Given the description of an element on the screen output the (x, y) to click on. 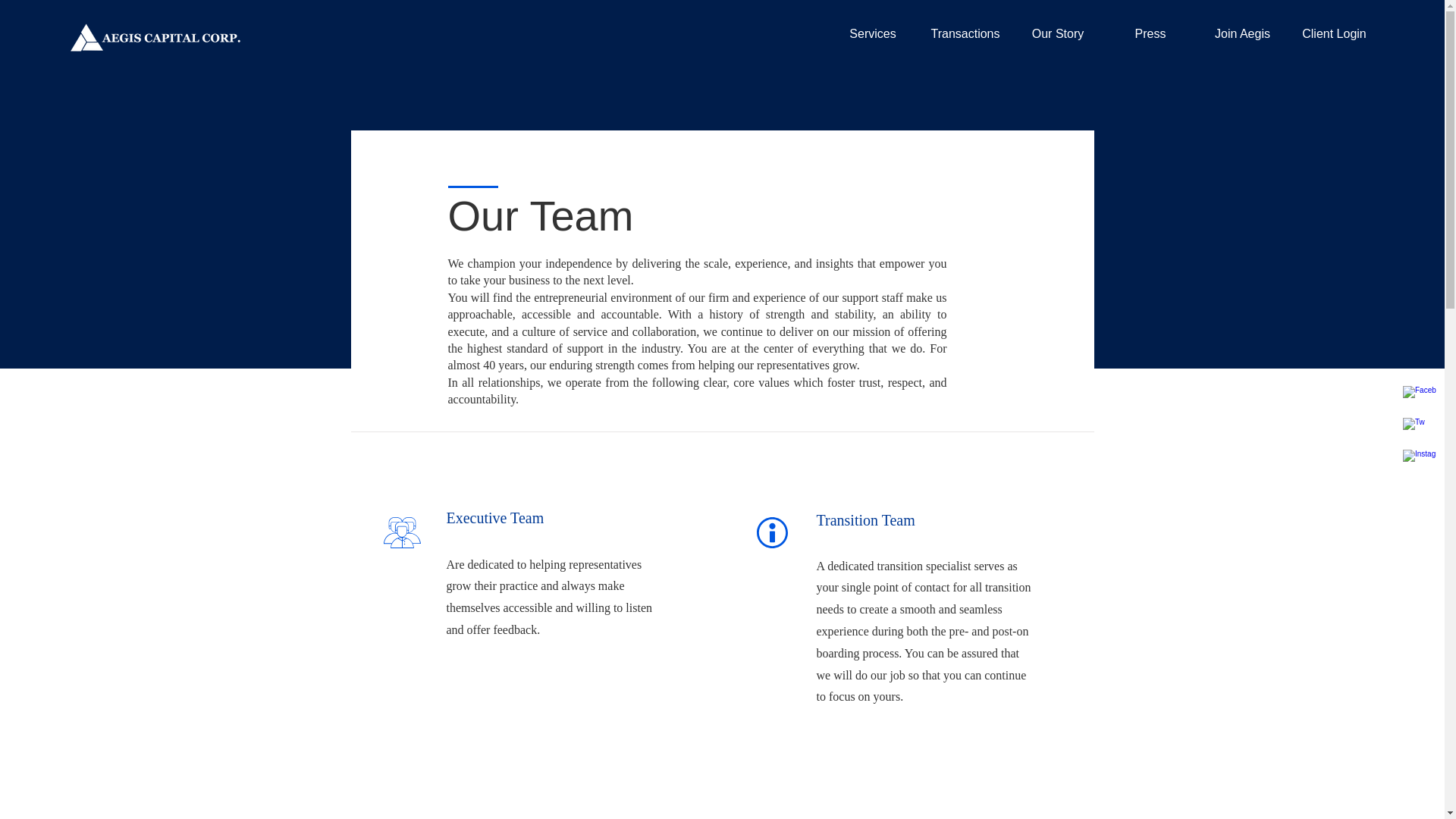
Services (872, 34)
Transactions (964, 34)
Client Login (1334, 34)
Press (1149, 34)
Join Aegis (1242, 34)
Our Story (1057, 34)
